Given the description of an element on the screen output the (x, y) to click on. 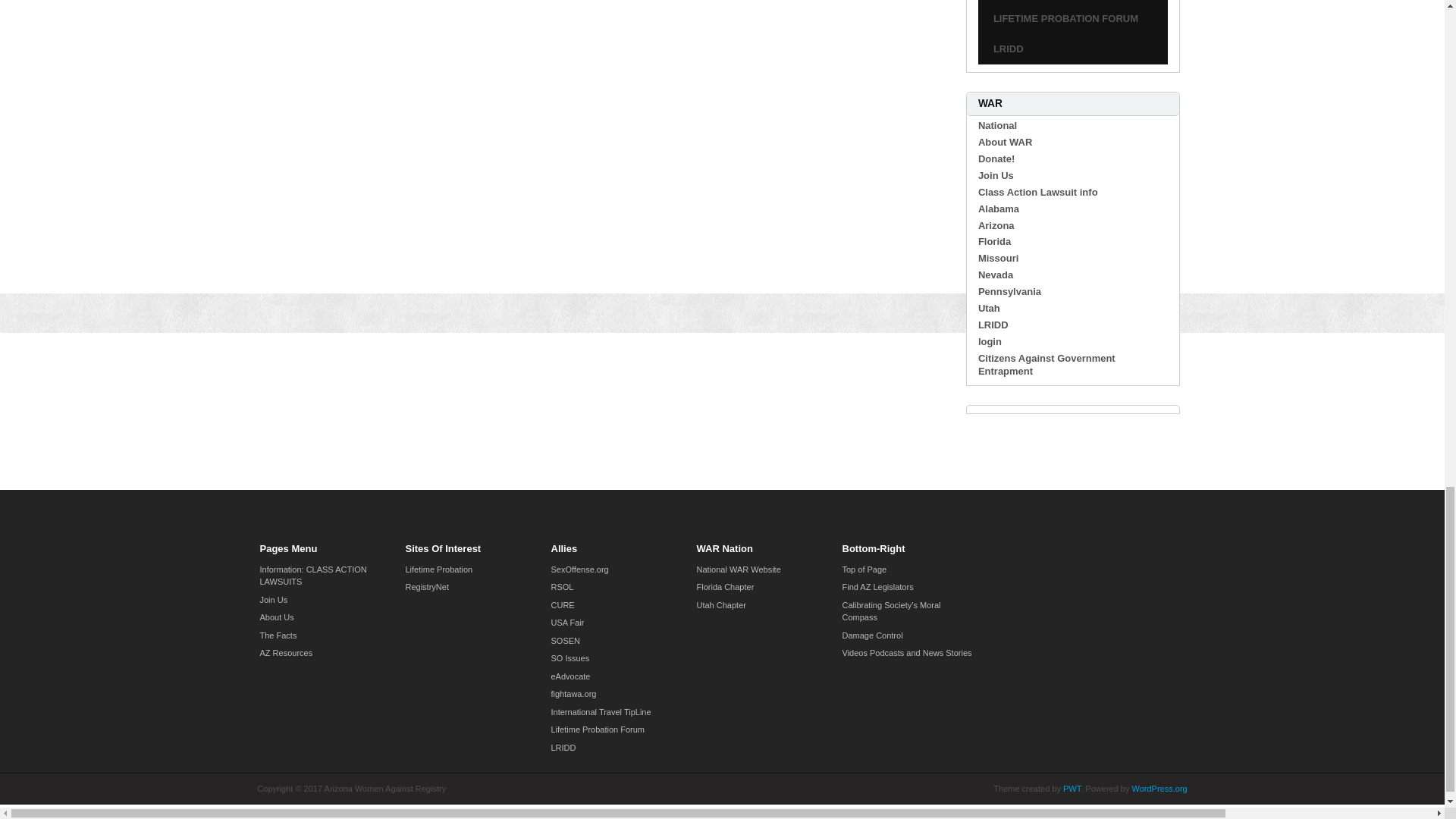
About WAR (1005, 142)
National (997, 125)
LIFETIME PROBATION FORUM (1065, 19)
LRIDD (1008, 49)
Donate! (996, 158)
